Given the description of an element on the screen output the (x, y) to click on. 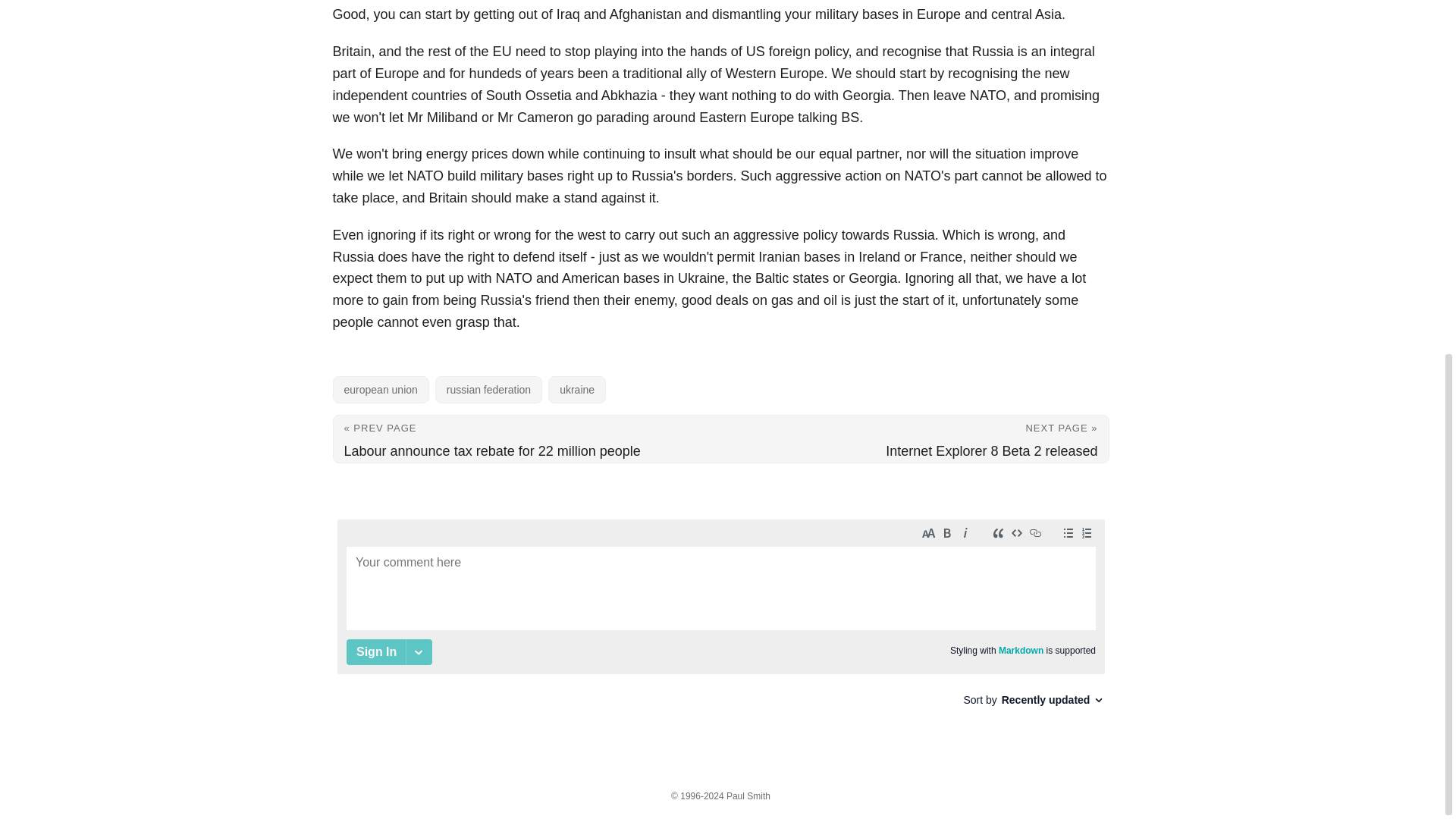
ukraine (576, 389)
european union (379, 389)
russian federation (488, 389)
